Given the description of an element on the screen output the (x, y) to click on. 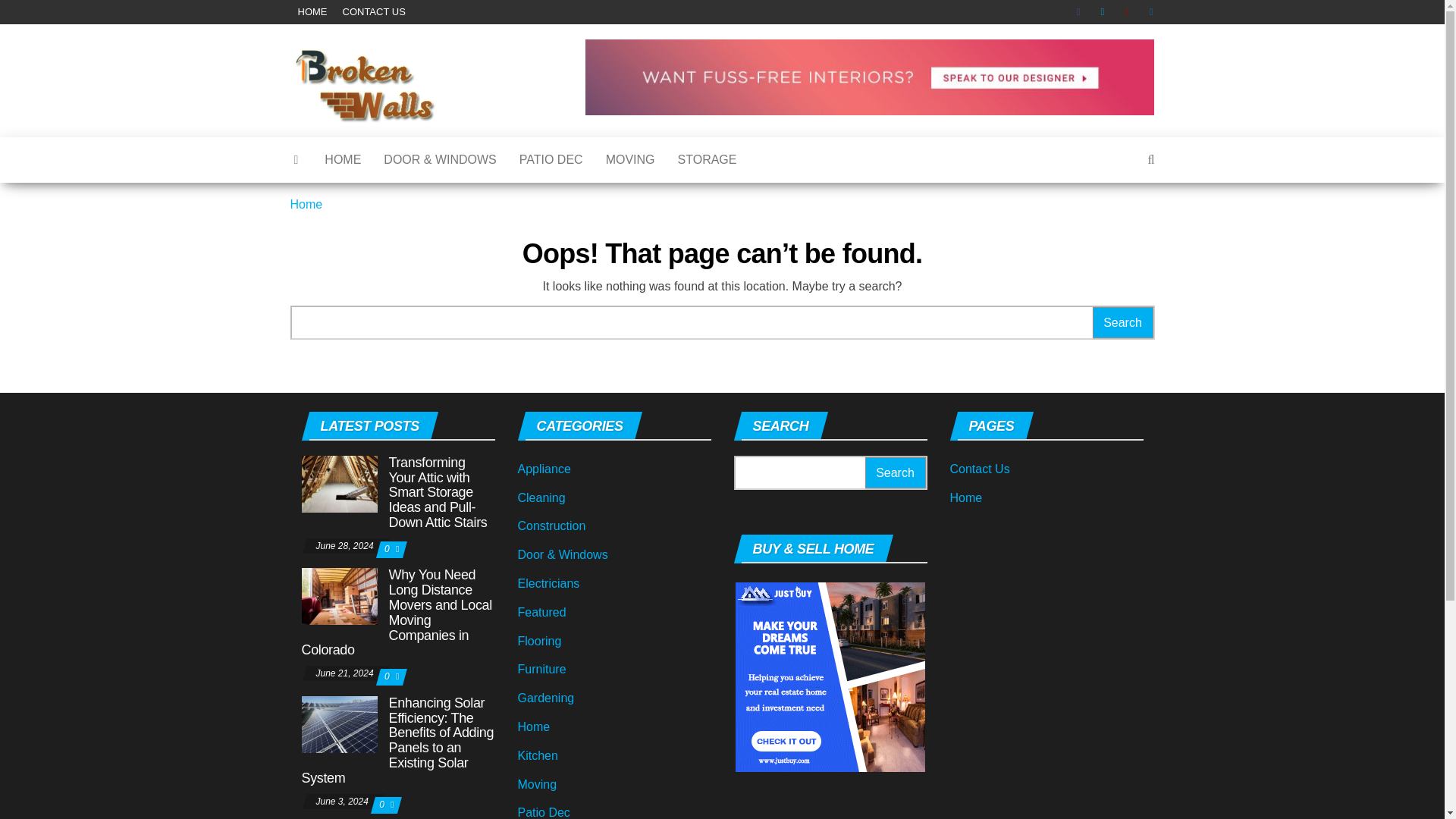
Electricians (547, 583)
Featured (541, 612)
Appliance (543, 468)
MOVING (630, 159)
Twitter (1105, 12)
HOME (342, 159)
Search (1122, 322)
STORAGE (707, 159)
